Given the description of an element on the screen output the (x, y) to click on. 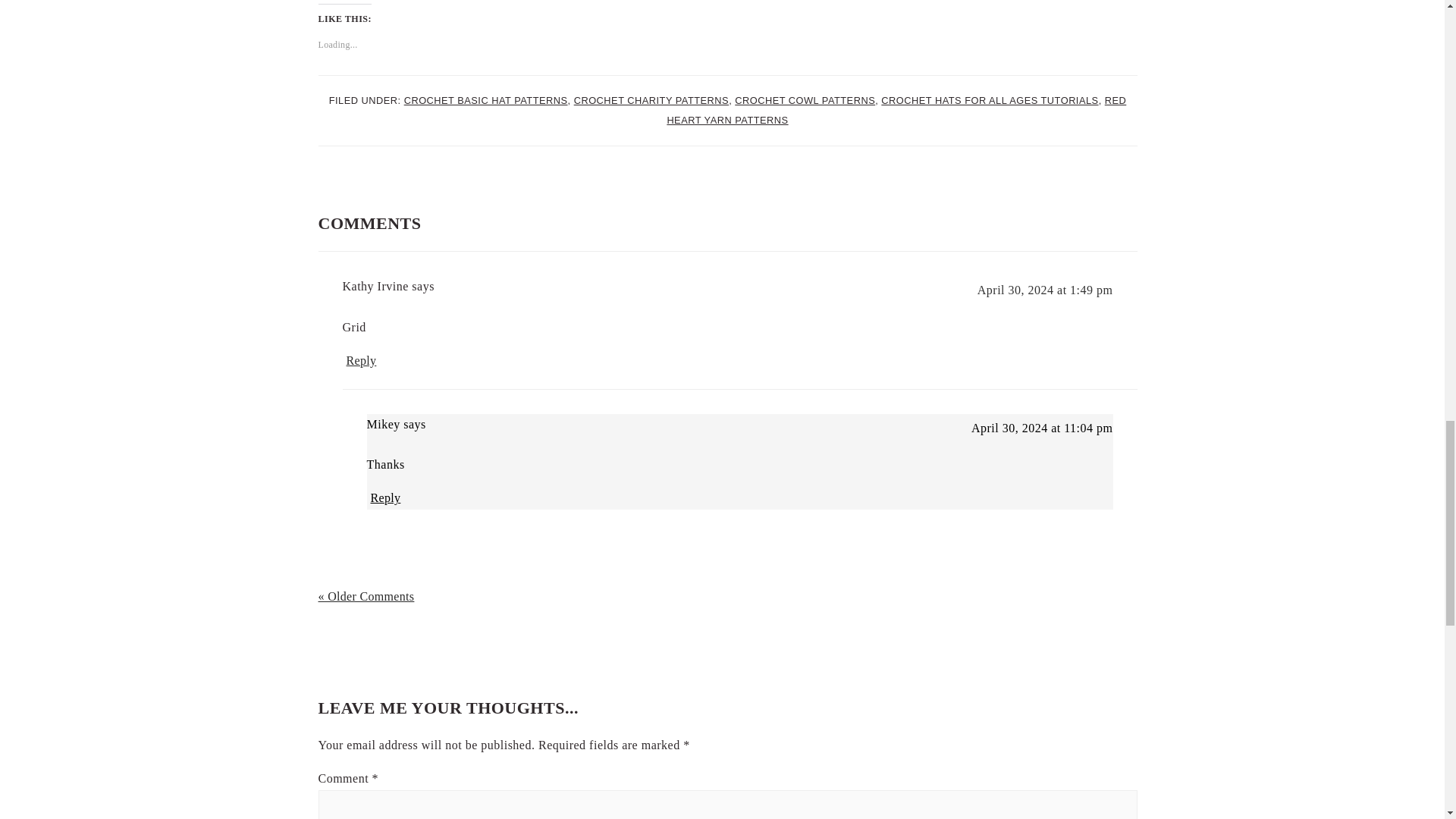
CROCHET CHARITY PATTERNS (651, 100)
Reply (385, 497)
RED HEART YARN PATTERNS (895, 110)
CROCHET COWL PATTERNS (805, 100)
CROCHET BASIC HAT PATTERNS (485, 100)
Reply (361, 360)
CROCHET HATS FOR ALL AGES TUTORIALS (988, 100)
